Given the description of an element on the screen output the (x, y) to click on. 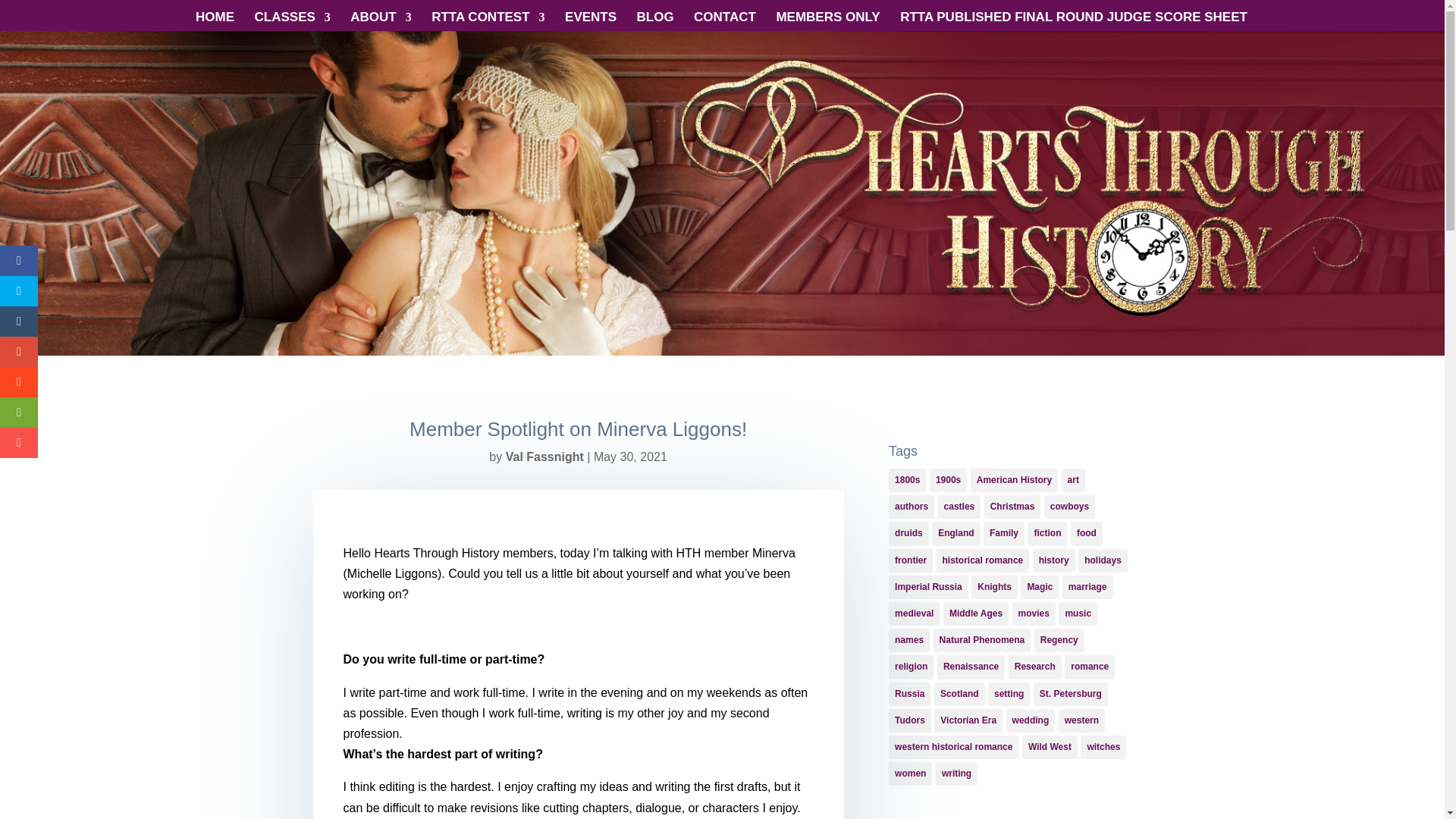
1800s (907, 480)
BLOG (655, 21)
HOME (214, 21)
ABOUT (380, 21)
RTTA PUBLISHED FINAL ROUND JUDGE SCORE SHEET (1073, 21)
CONTACT (724, 21)
Posts by Val Fassnight (544, 456)
RTTA CONTEST (487, 21)
Val Fassnight (544, 456)
EVENTS (589, 21)
